Given the description of an element on the screen output the (x, y) to click on. 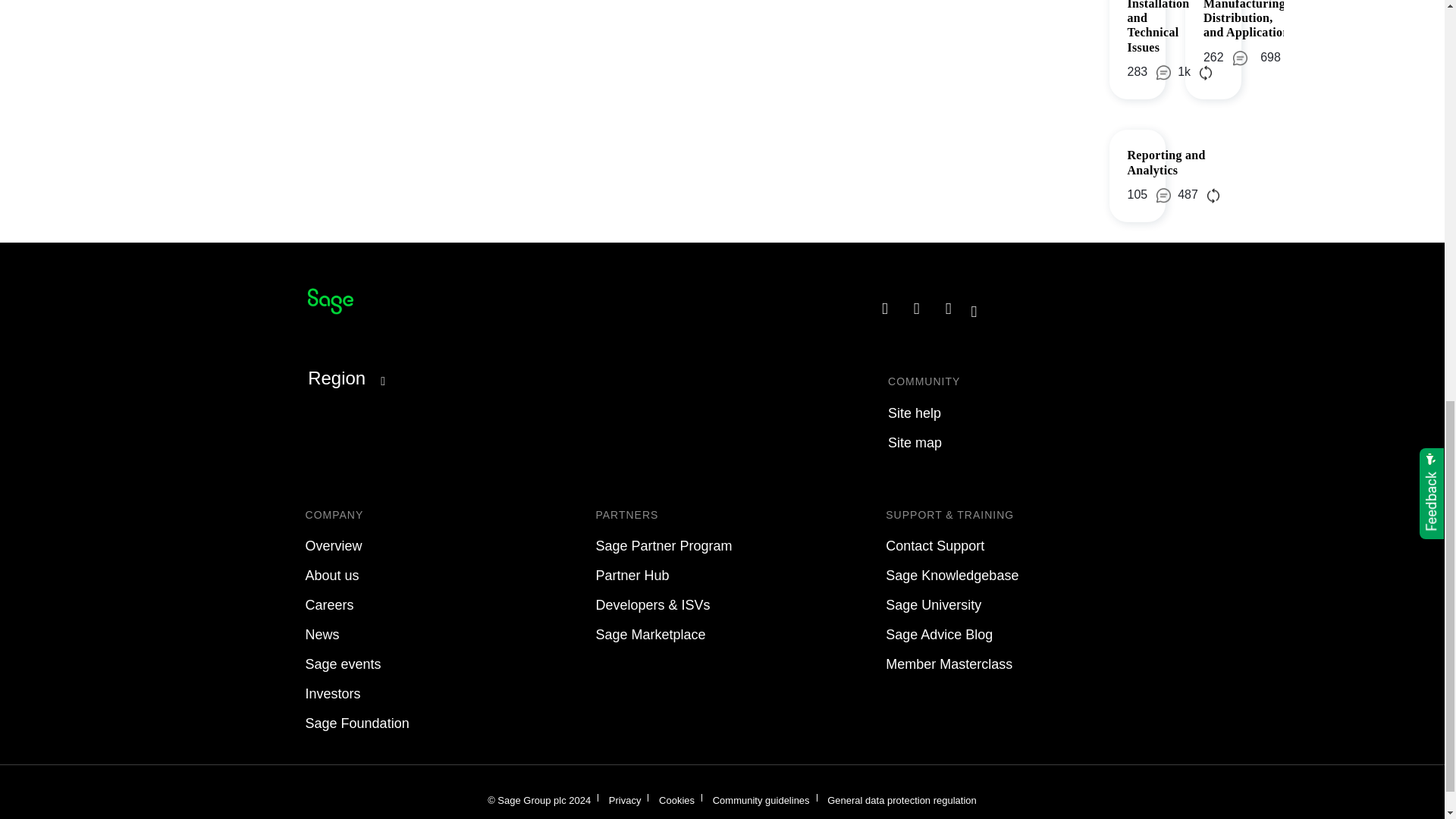
Region (347, 378)
Community Guidelines (761, 799)
Reporting and Analytics (1165, 162)
Privacy and Cookies (625, 799)
Manufacturing, Distribution, and Applications (1249, 19)
GDPR information (901, 799)
Installation and Technical Issues (1157, 27)
Privacy and Cookies (676, 799)
